Given the description of an element on the screen output the (x, y) to click on. 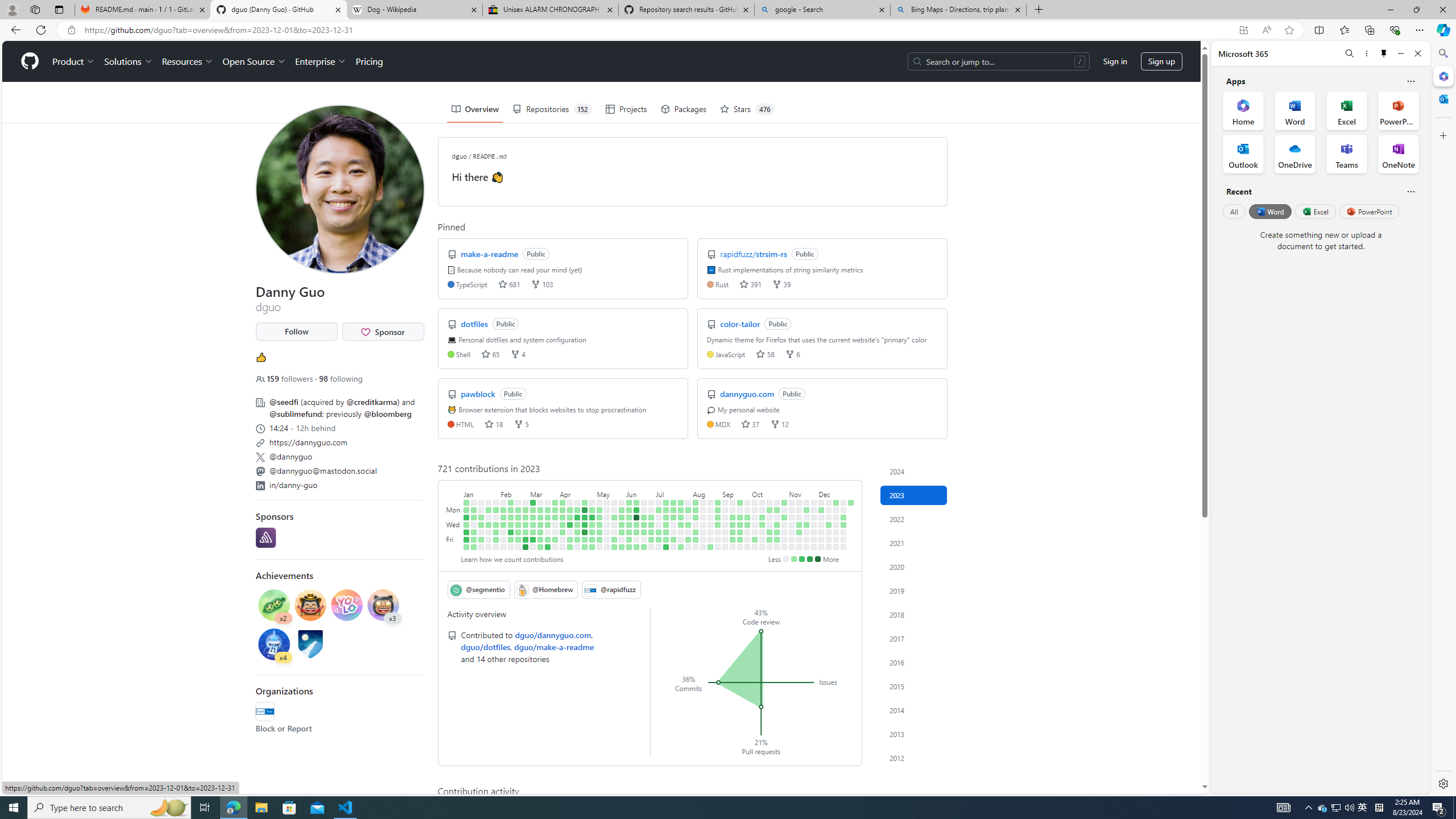
No contributions on November 9th. (791, 531)
Stars 476 (746, 108)
10 contributions on April 12th. (569, 524)
11 contributions on March 10th. (532, 539)
1 contribution on June 22nd. (643, 531)
No contributions on December 29th. (843, 539)
No contributions on January 15th. (481, 502)
No contributions on August 3rd. (688, 531)
2 contributions on October 31st. (784, 517)
No contributions on October 24th. (777, 517)
1 contribution on January 18th. (481, 524)
Follow (295, 331)
No contributions on July 8th. (658, 546)
